Given the description of an element on the screen output the (x, y) to click on. 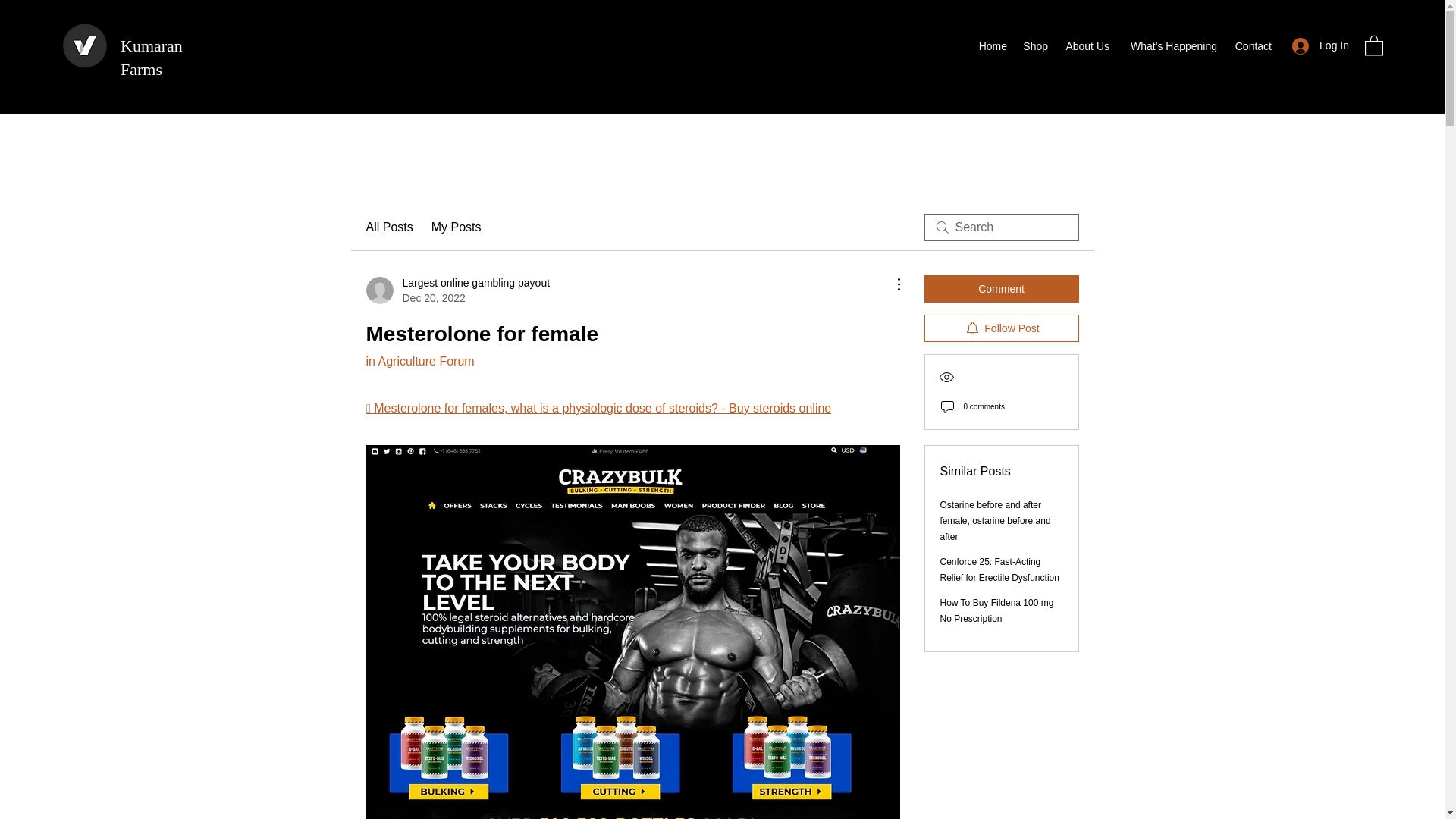
Shop (1034, 46)
What's Happening (1170, 46)
Log In (1320, 45)
in Agriculture Forum (419, 360)
My Posts (455, 227)
Kumaran Farms (151, 57)
Ostarine before and after female, ostarine before and after (995, 520)
Contact (1251, 46)
Cenforce 25: Fast-Acting Relief for Erectile Dysfunction (999, 569)
Comment (1000, 288)
